Given the description of an element on the screen output the (x, y) to click on. 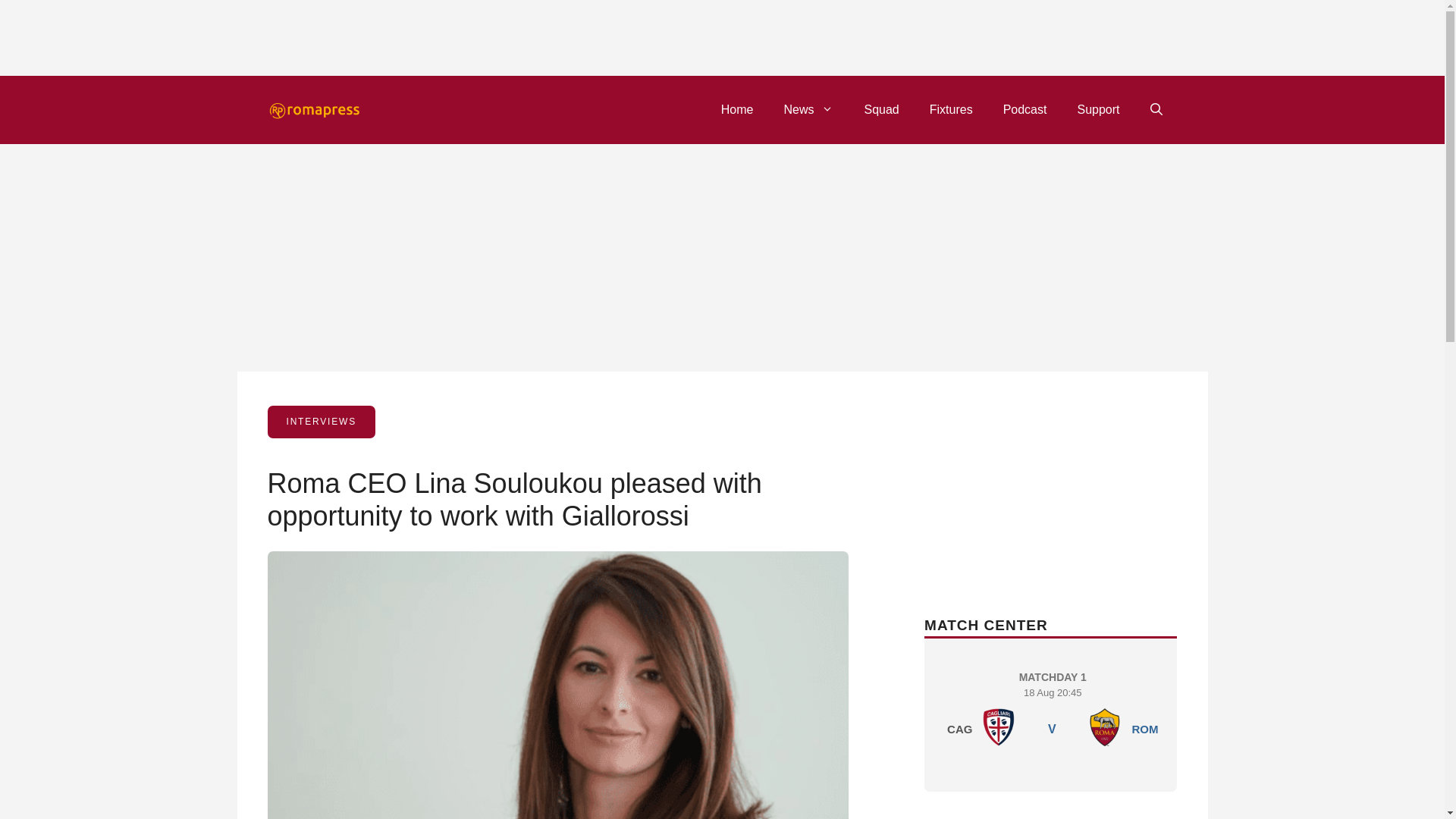
ROM (1105, 727)
Home (737, 109)
Squad (881, 109)
CAG (1052, 710)
ROM (998, 727)
Fixtures (1144, 728)
Podcast (951, 109)
News (1025, 109)
Support (808, 109)
